Given the description of an element on the screen output the (x, y) to click on. 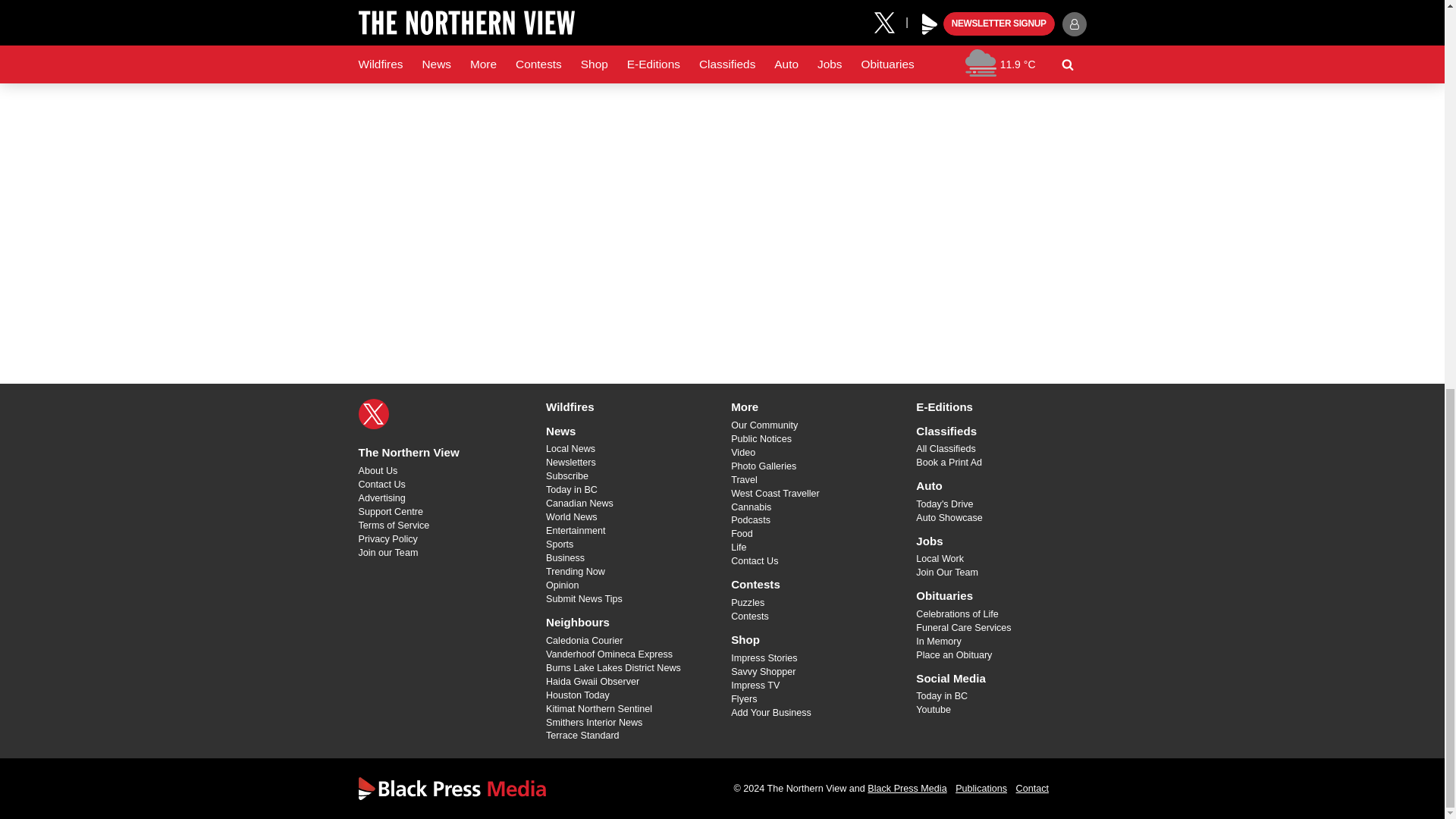
X (373, 413)
